Given the description of an element on the screen output the (x, y) to click on. 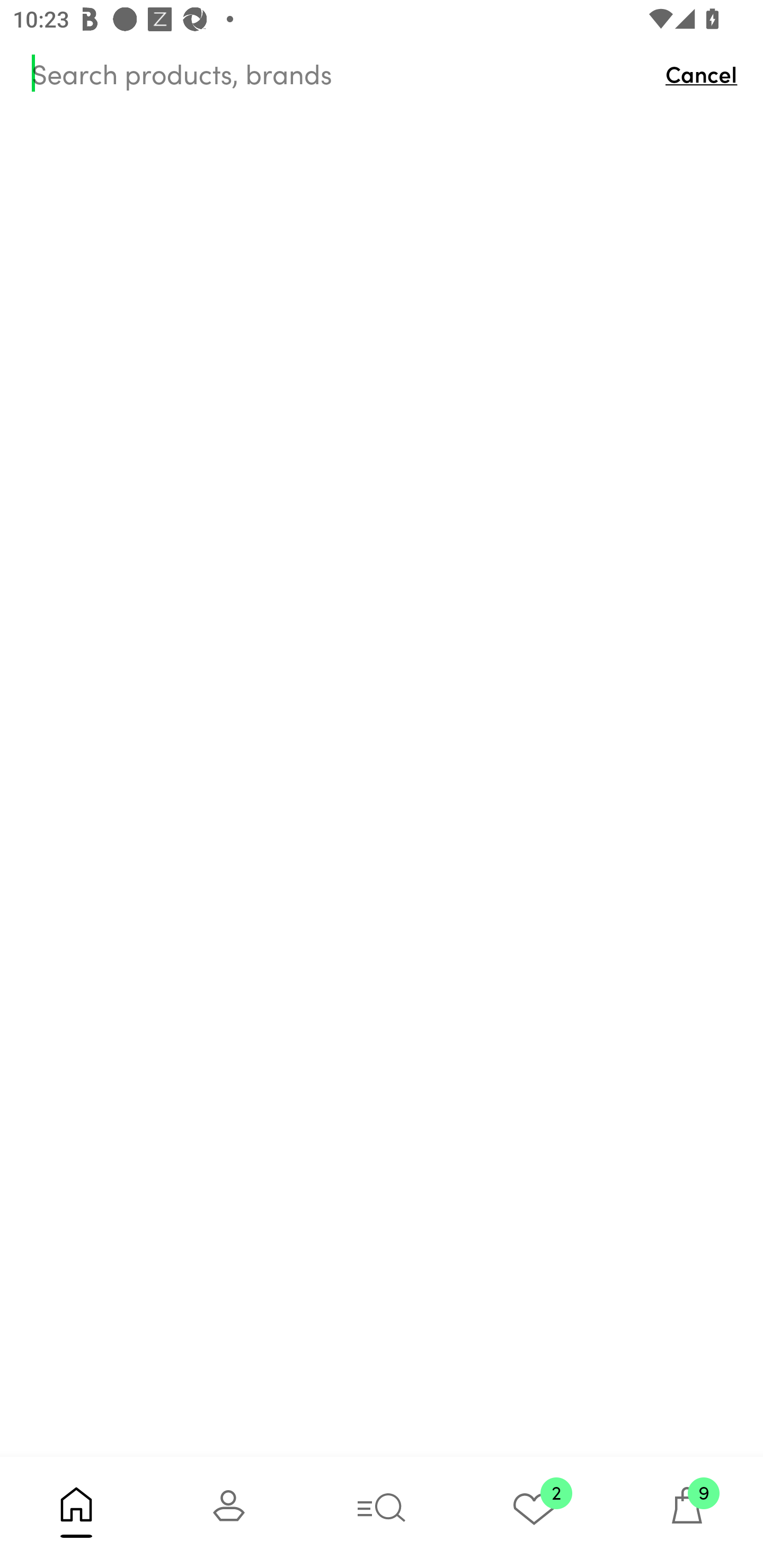
Cancel (706, 72)
Search products, brands (340, 72)
2 (533, 1512)
9 (686, 1512)
